Given the description of an element on the screen output the (x, y) to click on. 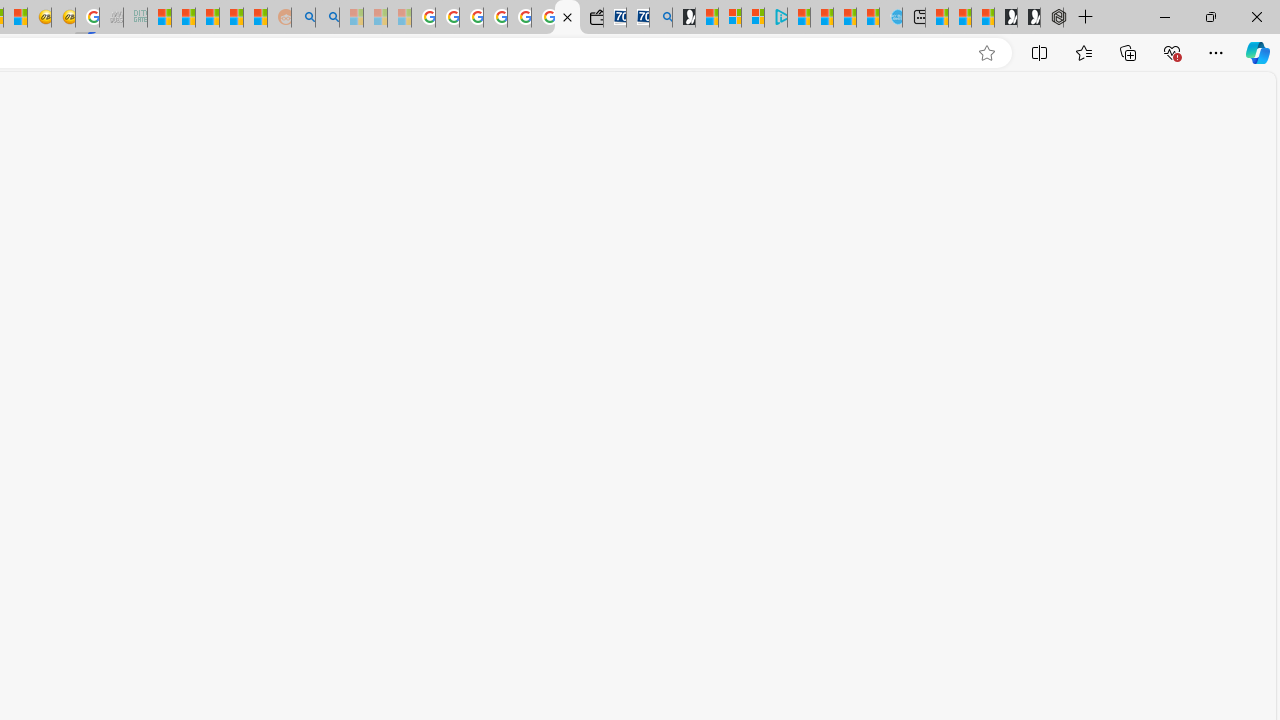
MSNBC - MSN (159, 17)
Nordace - Nordace Siena Is Not An Ordinary Backpack (1051, 17)
